Given the description of an element on the screen output the (x, y) to click on. 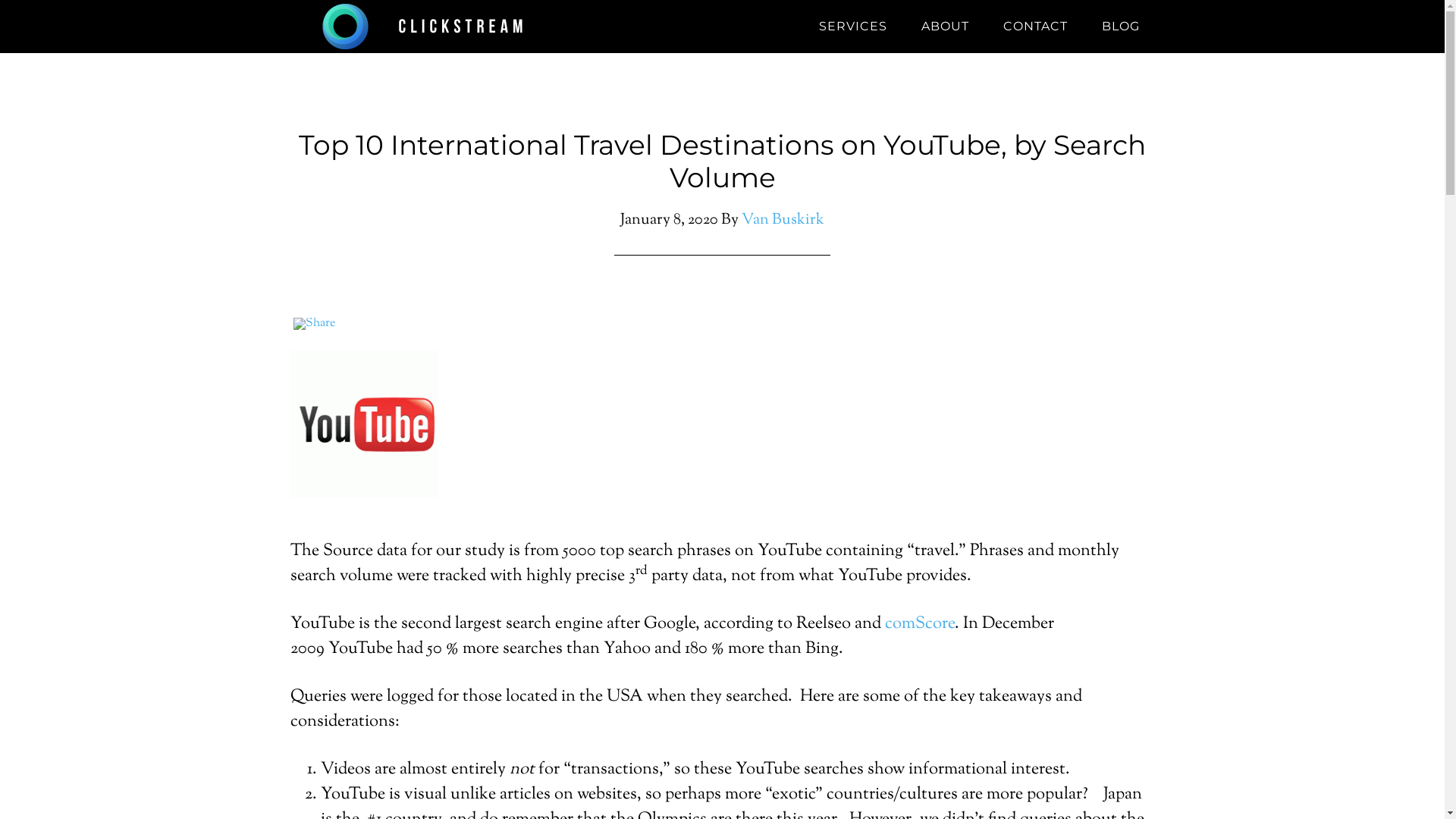
ABOUT Element type: text (944, 26)
comScore Element type: text (918, 623)
SERVICES Element type: text (852, 26)
SMARTER SEARCH OPTIMIZATION | CLICKSTREAM Element type: text (425, 26)
BLOG Element type: text (1119, 26)
Van Buskirk Element type: text (782, 220)
CONTACT Element type: text (1034, 26)
